Given the description of an element on the screen output the (x, y) to click on. 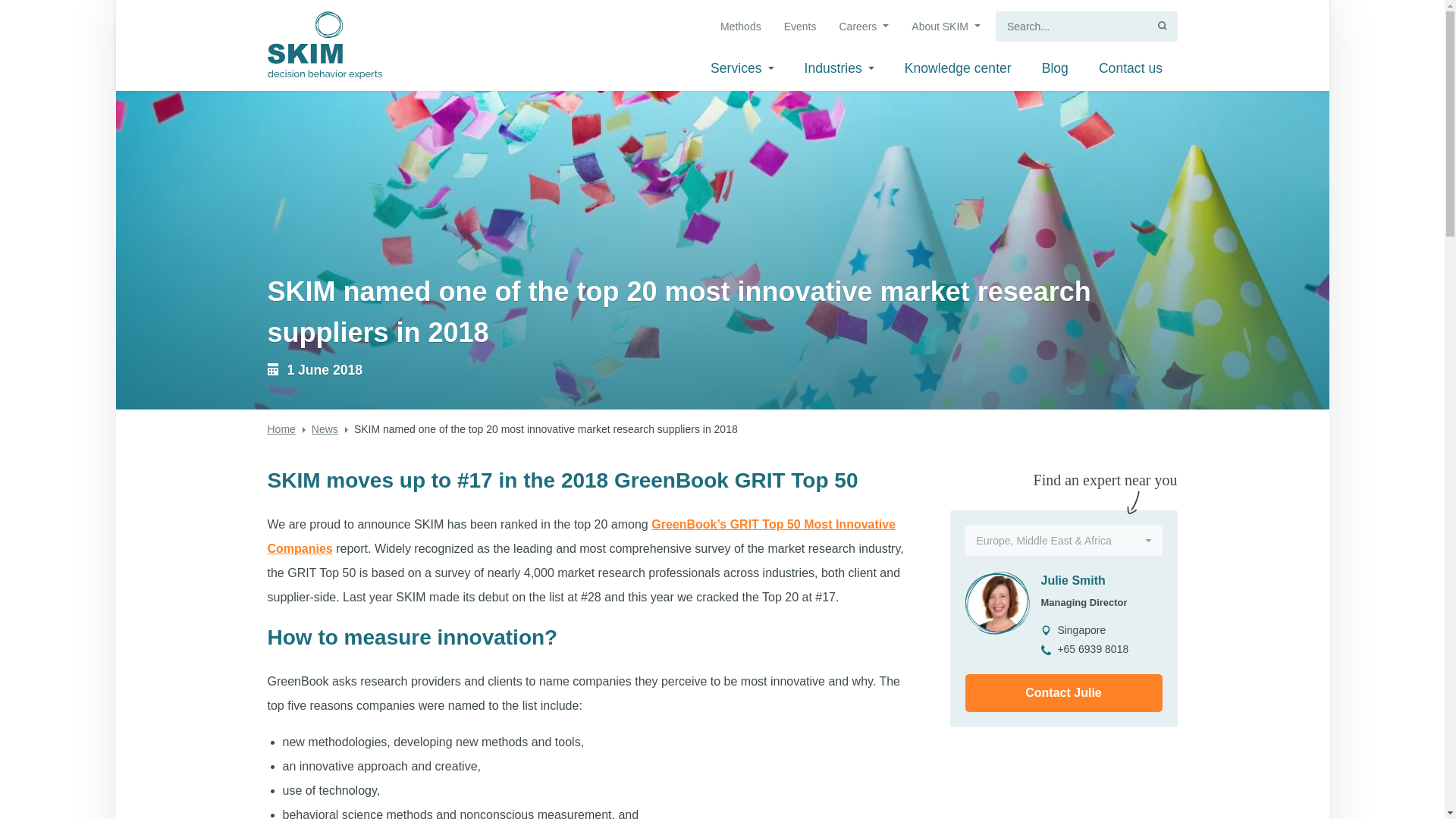
Methods (739, 28)
Events (799, 28)
About SKIM (945, 28)
Industries (838, 71)
Careers (863, 28)
Knowledge center (957, 71)
Services (742, 71)
Blog (1054, 71)
Contact us (1129, 71)
